Given the description of an element on the screen output the (x, y) to click on. 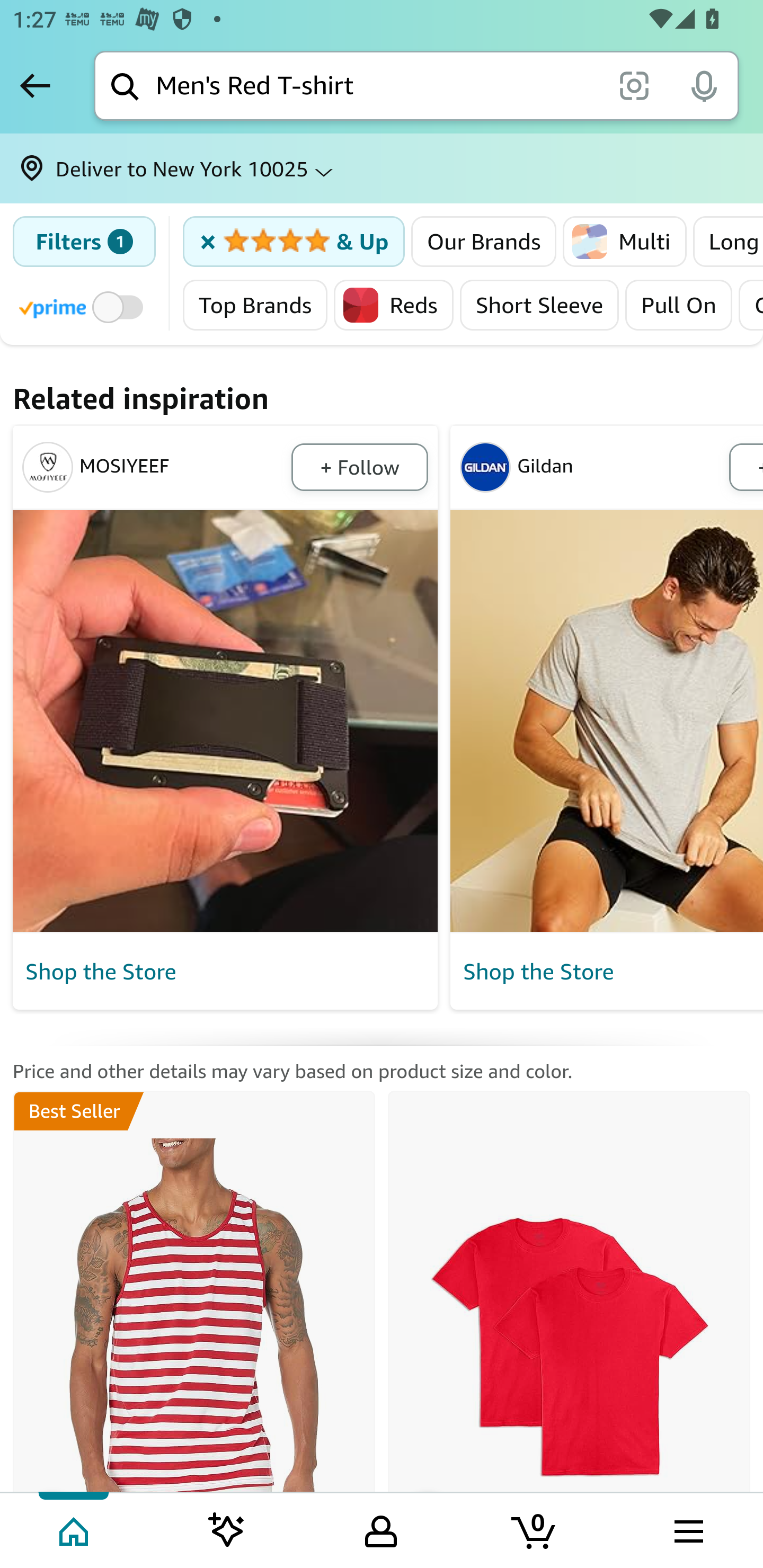
Back (35, 85)
scan it (633, 85)
Deliver to New York 10025 ⌵ (381, 168)
Filters 1 (83, 241)
× 4 Stars & Up × 4 Stars & Up (294, 241)
Our Brands (483, 241)
Multi Multi Multi Multi (624, 241)
Long Sleeve (727, 241)
Toggle to filter by Prime products Prime Eligible (83, 306)
Top Brands (255, 304)
Reds Reds Reds Reds (394, 304)
Short Sleeve (539, 304)
Pull On (678, 304)
MOSIYEEF (154, 467)
Gildan (591, 467)
Follow the brand (359, 466)
Content Image (225, 721)
Content Image (606, 721)
Shop the Store (225, 972)
Shop the Store (609, 972)
Home Tab 1 of 5 (75, 1529)
Inspire feed Tab 2 of 5 (227, 1529)
Your Amazon.com Tab 3 of 5 (380, 1529)
Cart 0 item Tab 4 of 5 0 (534, 1529)
Browse menu Tab 5 of 5 (687, 1529)
